Given the description of an element on the screen output the (x, y) to click on. 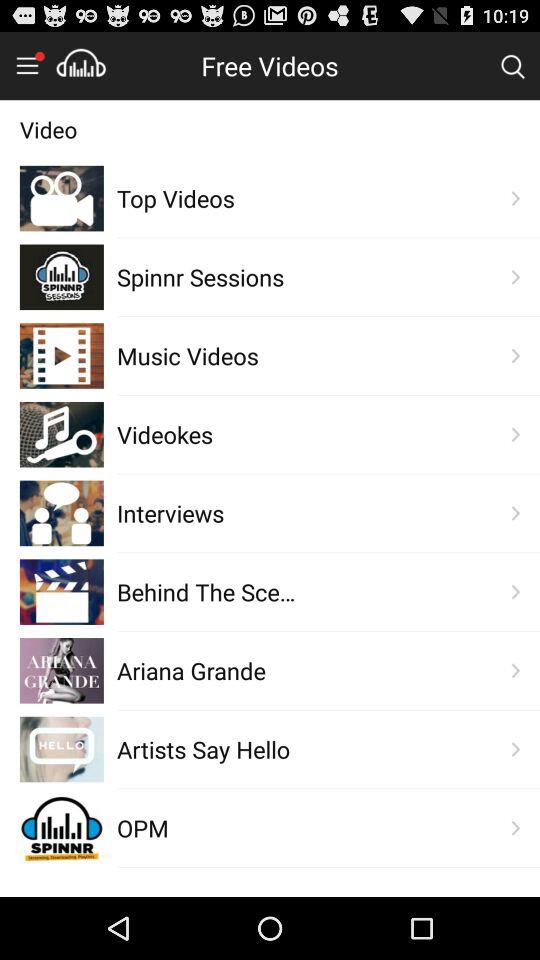
click to search (512, 65)
